Given the description of an element on the screen output the (x, y) to click on. 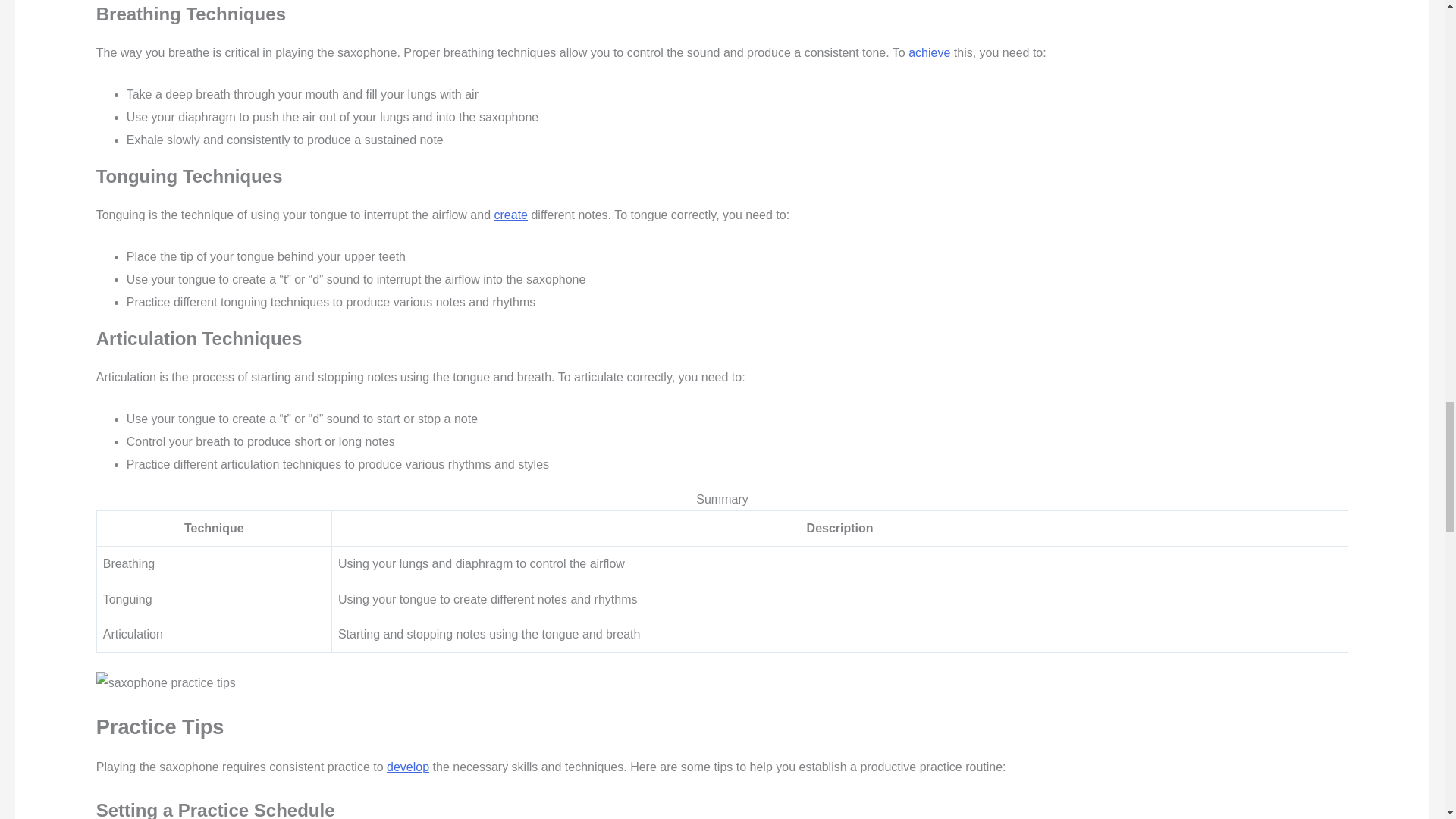
achieve (929, 51)
create (511, 214)
develop (408, 766)
